Given the description of an element on the screen output the (x, y) to click on. 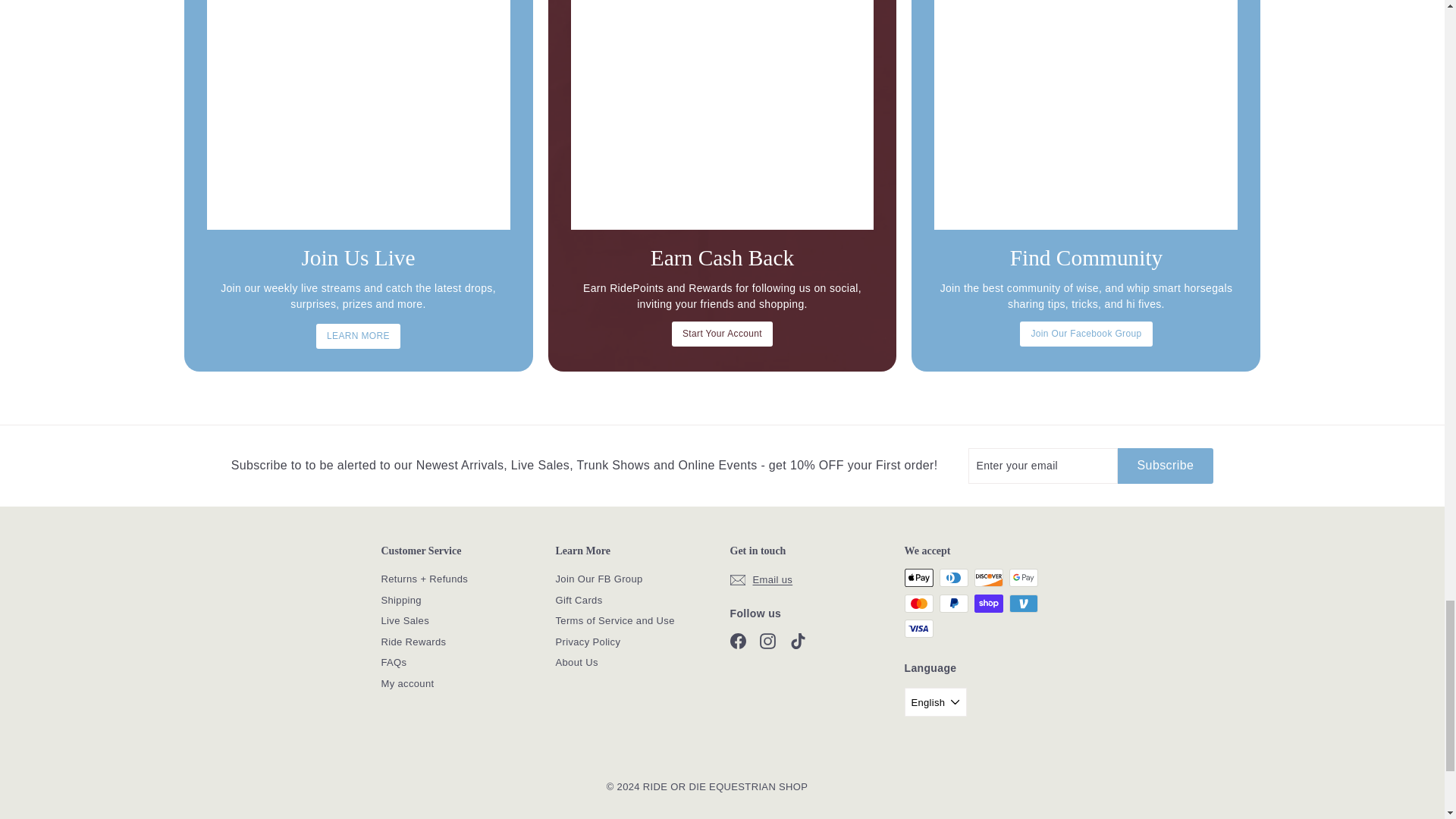
RIDE OR DIE EQUESTRIAN SHOP on Instagram (768, 641)
RIDE OR DIE EQUESTRIAN SHOP on TikTok (798, 641)
Diners Club (953, 577)
RIDE OR DIE EQUESTRIAN SHOP on Facebook (737, 641)
Apple Pay (918, 577)
instagram (768, 641)
